Given the description of an element on the screen output the (x, y) to click on. 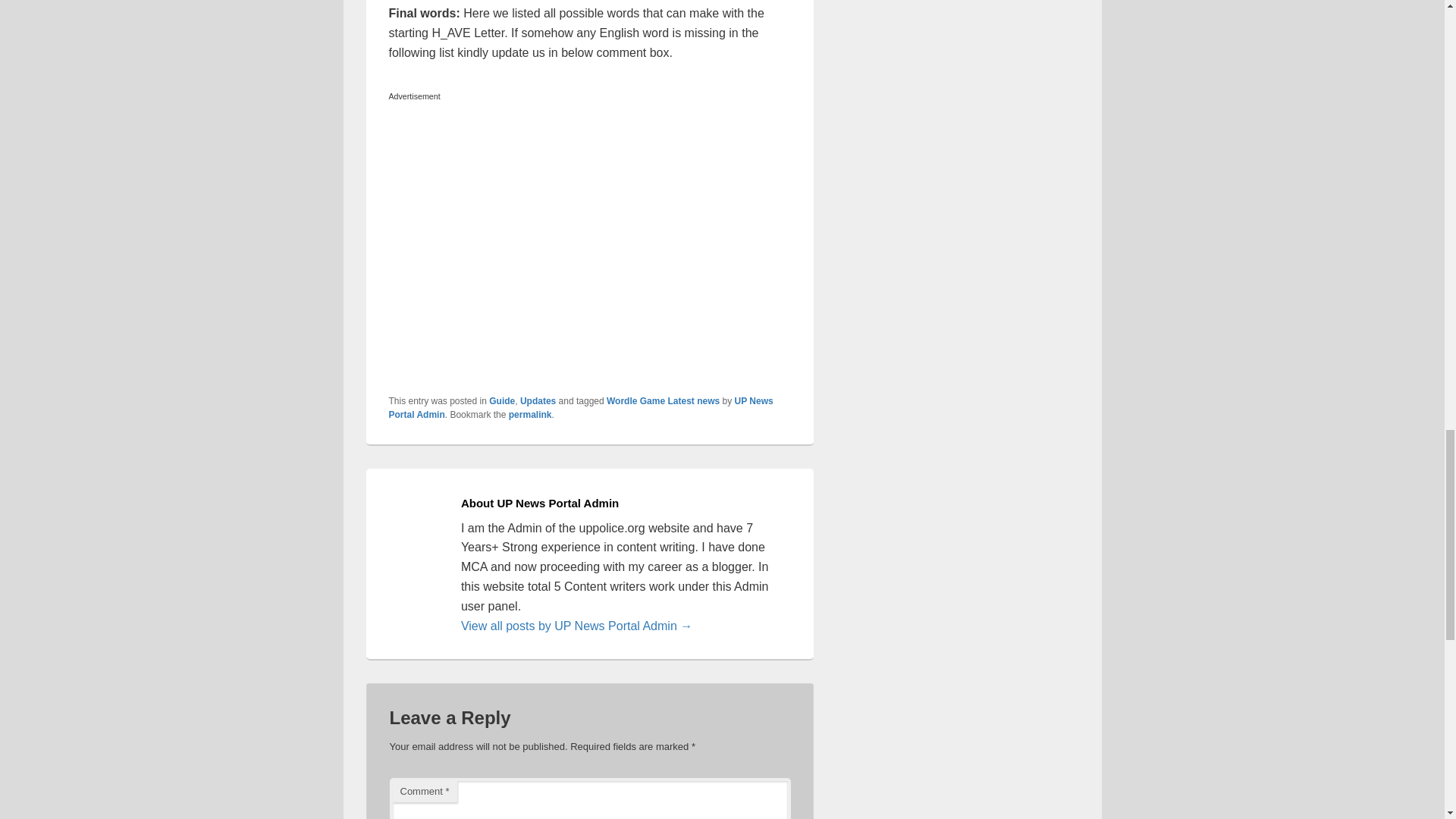
Updates (537, 400)
Guide (502, 400)
Wordle Game Latest news (663, 400)
UP News Portal Admin (580, 407)
permalink (529, 414)
